Given the description of an element on the screen output the (x, y) to click on. 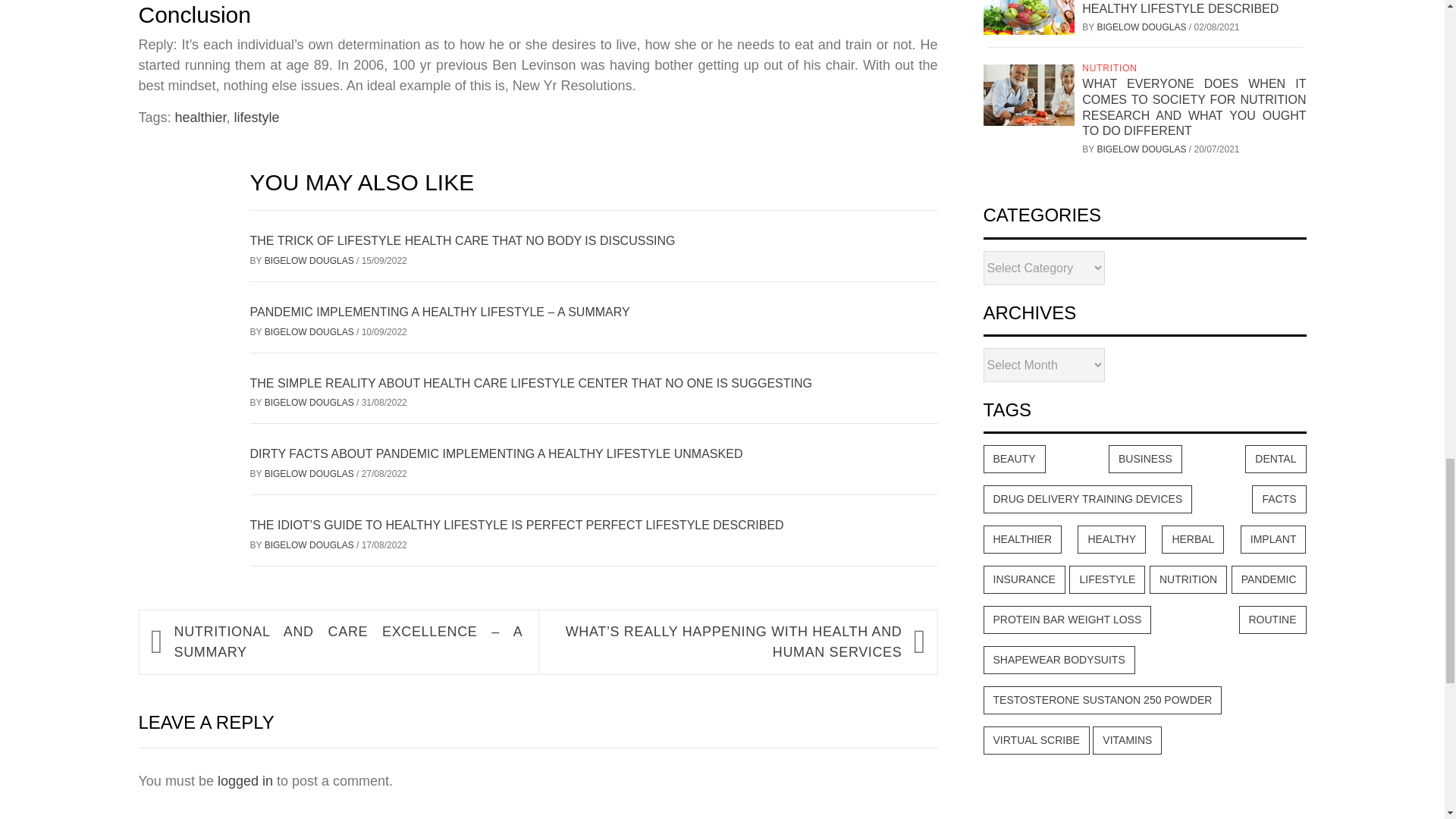
BIGELOW DOUGLAS (310, 331)
BIGELOW DOUGLAS (310, 260)
lifestyle (256, 117)
BIGELOW DOUGLAS (310, 402)
BIGELOW DOUGLAS (310, 544)
BIGELOW DOUGLAS (310, 473)
logged in (244, 780)
